Given the description of an element on the screen output the (x, y) to click on. 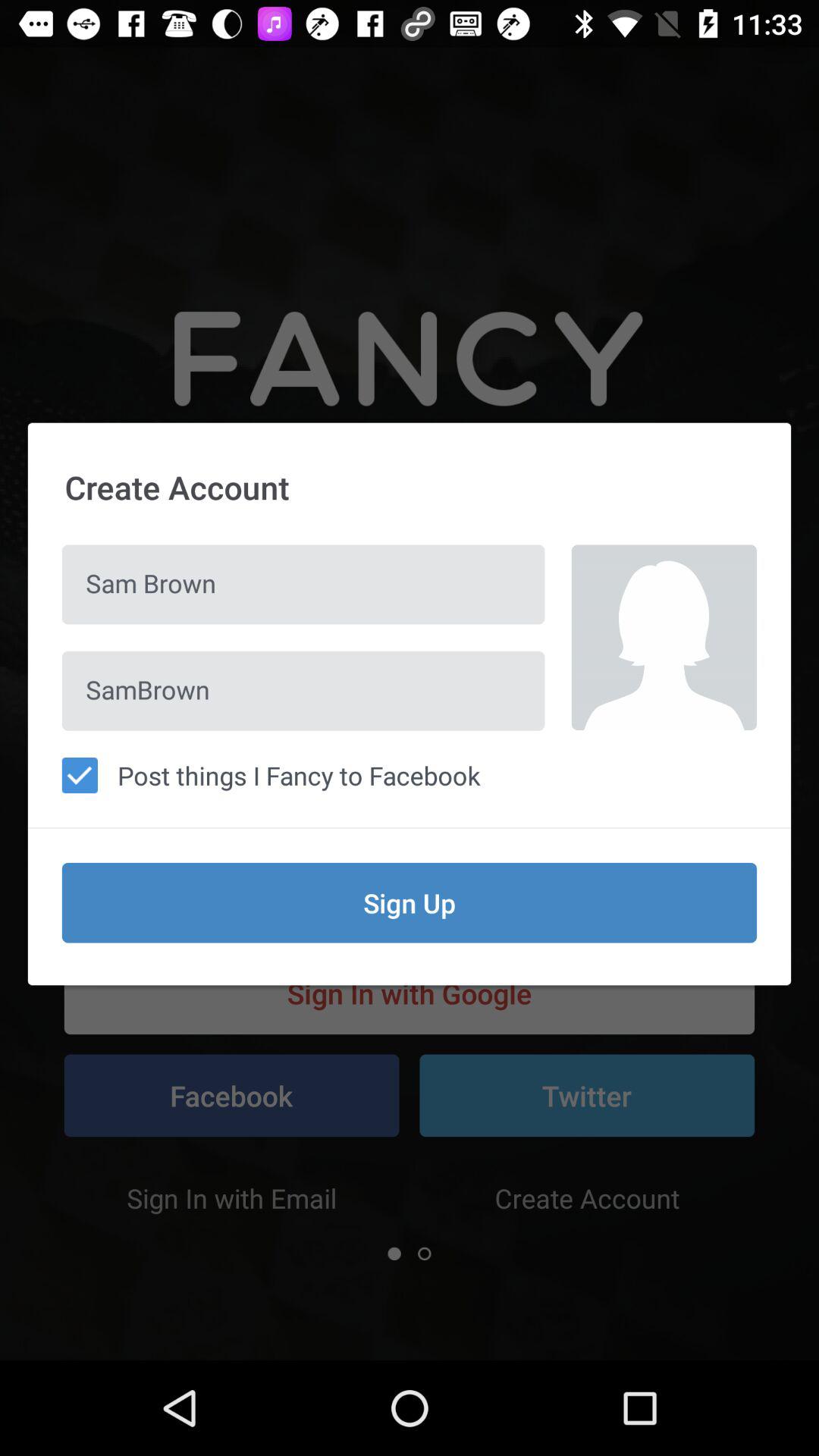
press the icon above post things i icon (664, 637)
